Given the description of an element on the screen output the (x, y) to click on. 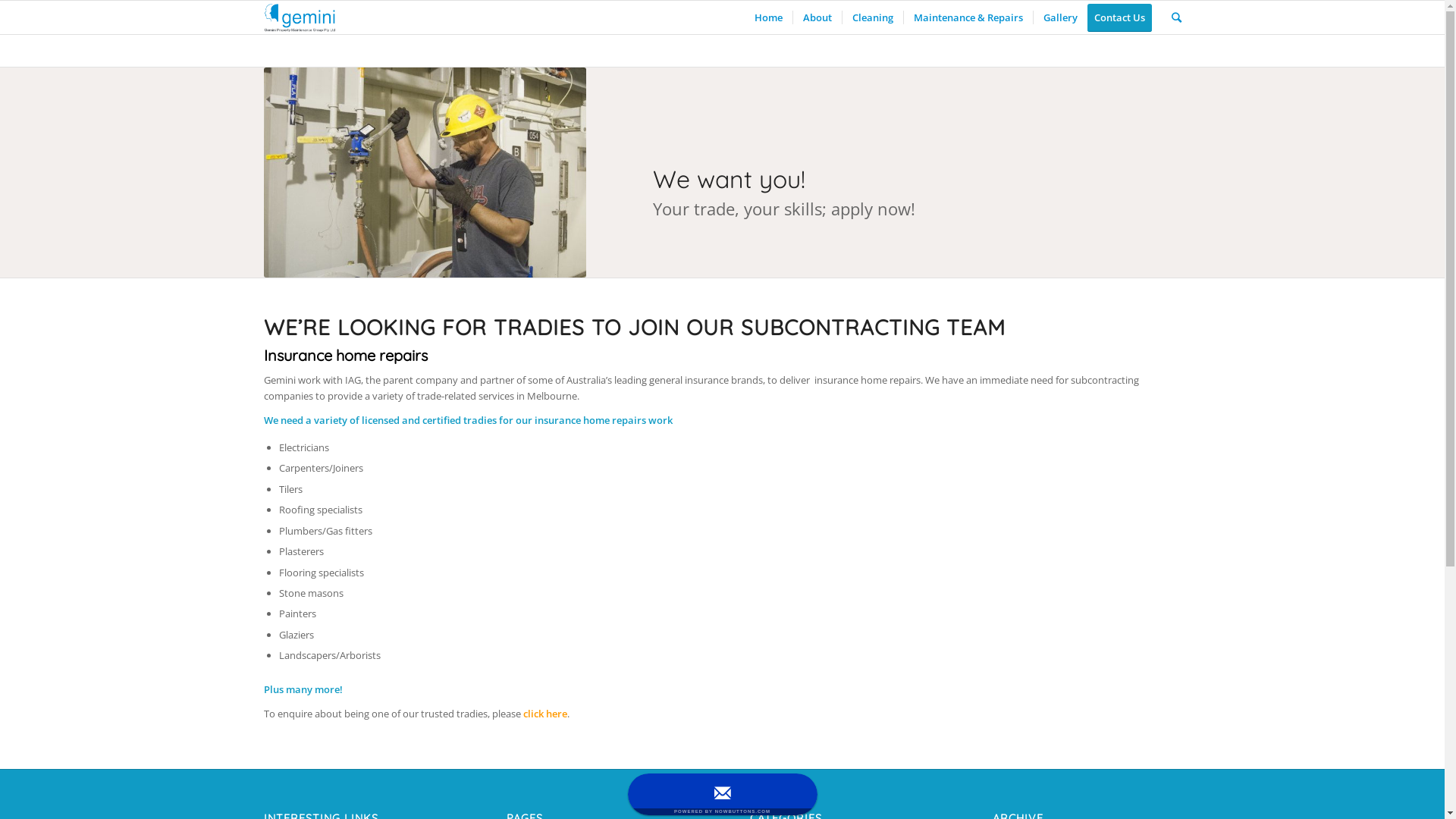
About Element type: text (815, 17)
Gallery Element type: text (1059, 17)
Contact Us Element type: text (1124, 17)
Maintenance & Repairs Element type: text (967, 17)
Home Element type: text (768, 17)
Cleaning Element type: text (872, 17)
email Element type: text (722, 794)
click here Element type: text (545, 713)
